Given the description of an element on the screen output the (x, y) to click on. 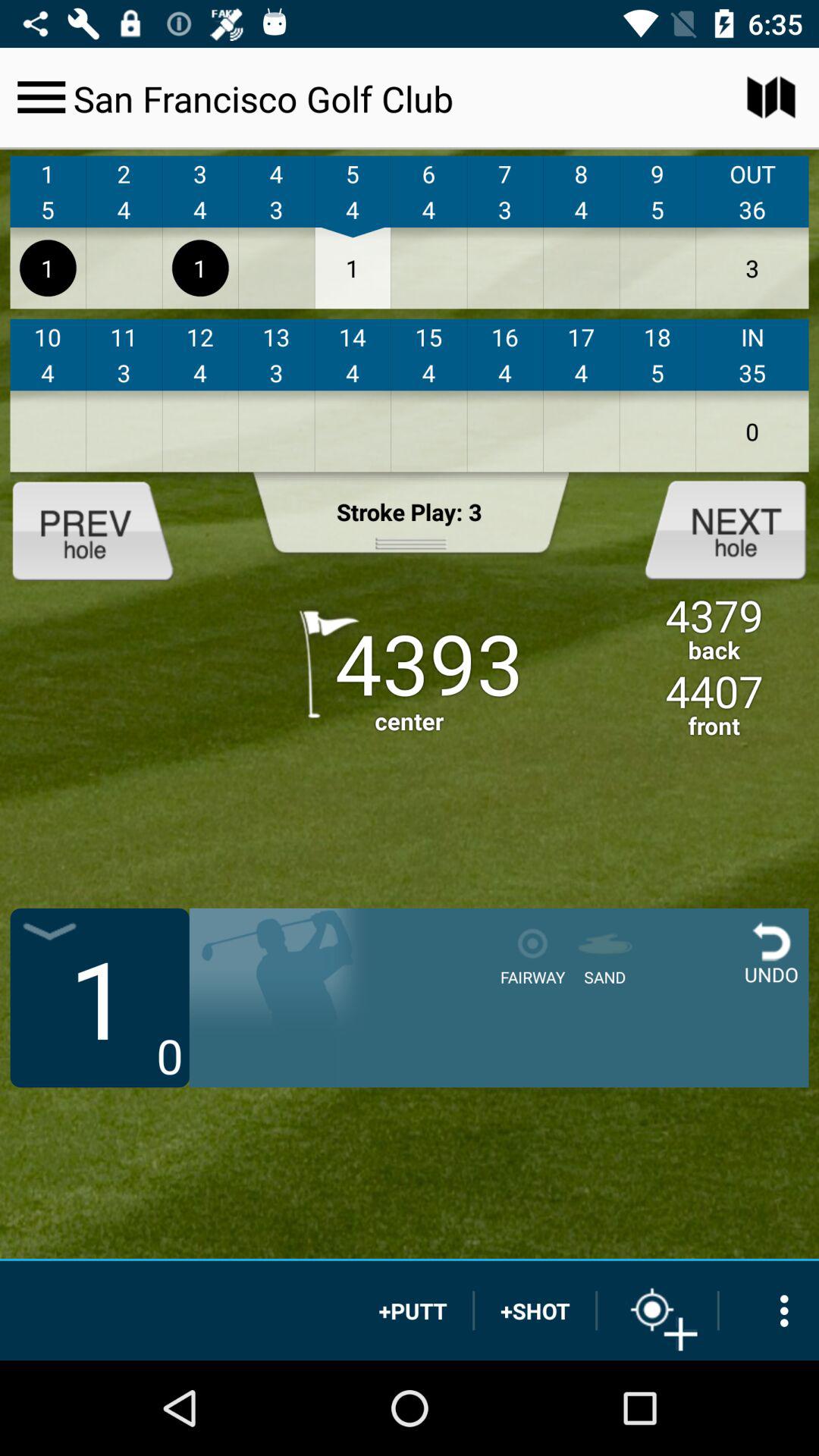
pack word (105, 528)
